Given the description of an element on the screen output the (x, y) to click on. 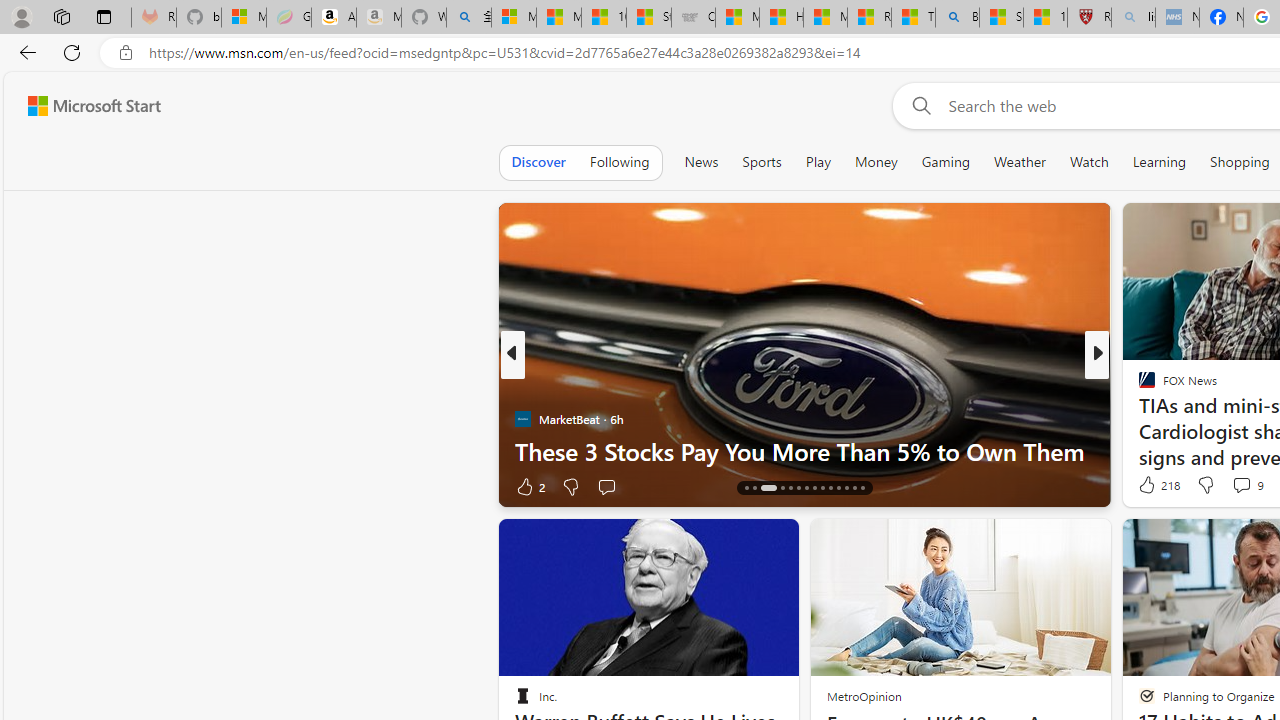
View comments 23 Comment (1244, 486)
15 Like (1149, 486)
Parade (1138, 386)
Sports (761, 162)
876 Like (1151, 486)
2 Like (528, 486)
218 Like (1157, 484)
